Given the description of an element on the screen output the (x, y) to click on. 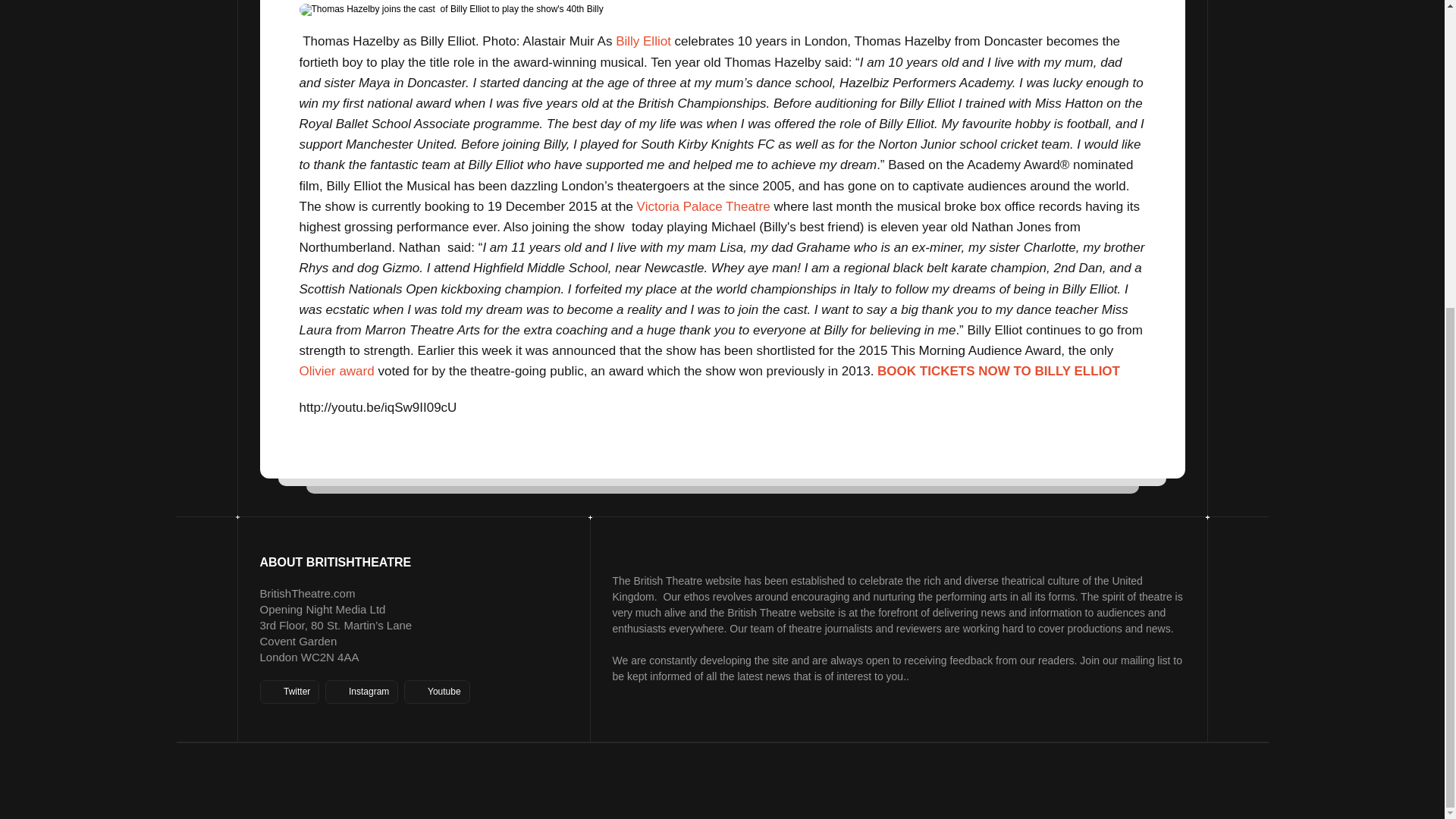
Billy Elliot (643, 41)
Victoria Palace Theatre (703, 206)
Olivier award (336, 370)
Youtube (437, 691)
Twitter (288, 691)
Instagram (360, 691)
BOOK TICKETS NOW TO BILLY ELLIOT (998, 370)
